Given the description of an element on the screen output the (x, y) to click on. 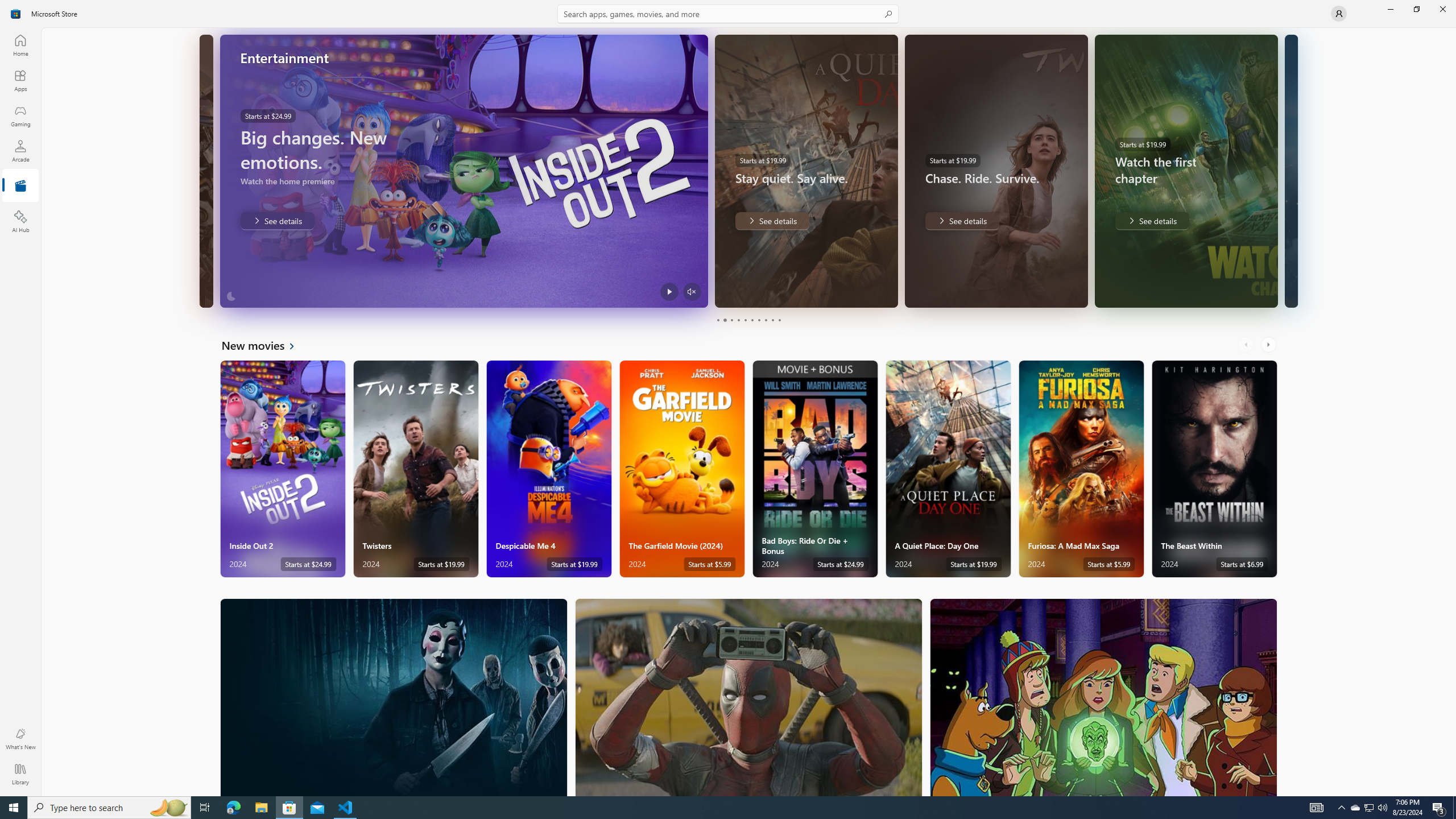
Arcade (20, 150)
Page 2 (724, 319)
